Given the description of an element on the screen output the (x, y) to click on. 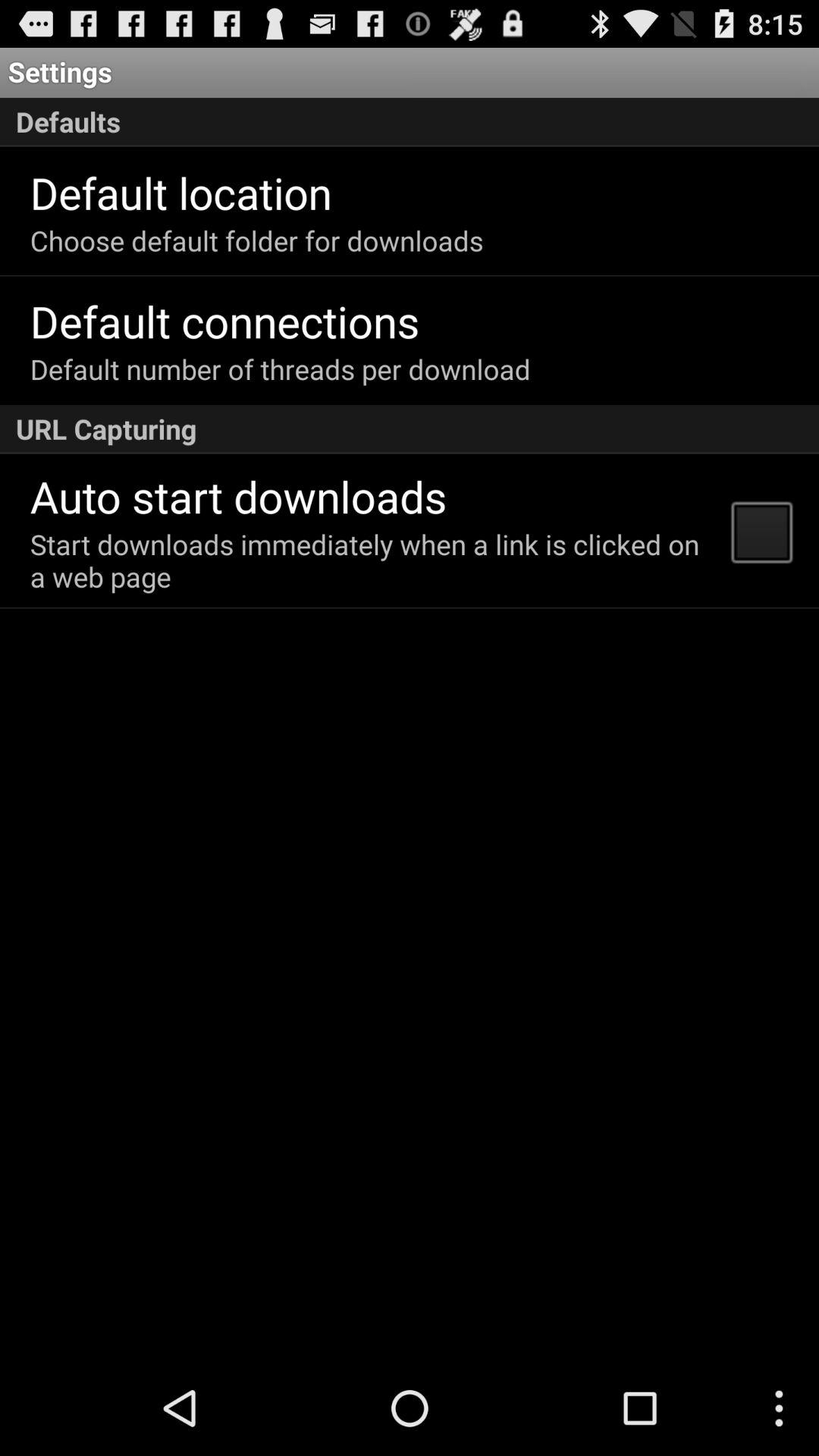
turn off app above default number of (224, 320)
